Given the description of an element on the screen output the (x, y) to click on. 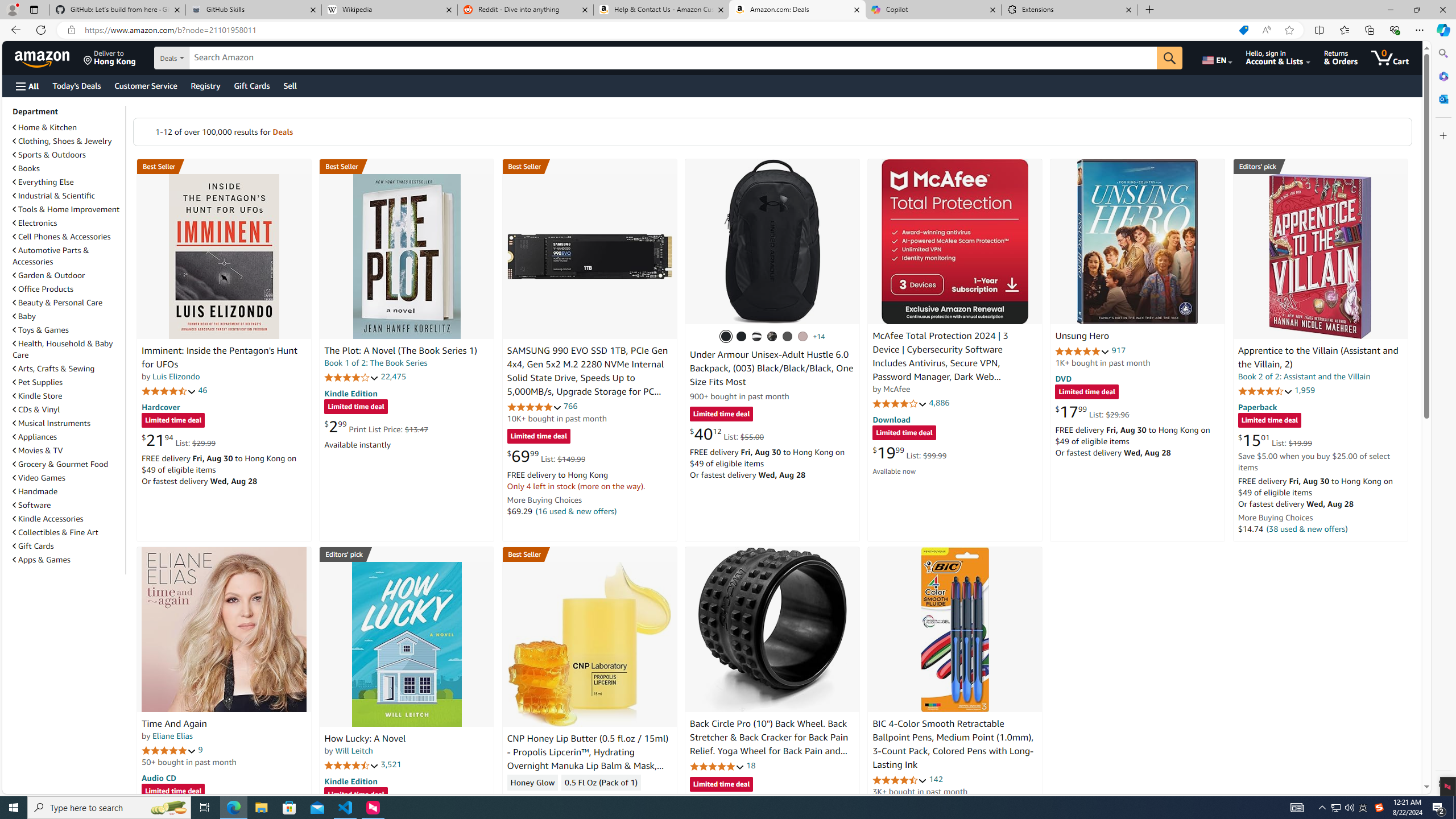
0 items in cart (1389, 57)
4.3 out of 5 stars (534, 799)
Today's Deals (76, 85)
18 (750, 764)
22,475 (393, 376)
Appliances (34, 436)
Sports & Outdoors (49, 154)
3,521 (390, 764)
How Lucky: A Novel (365, 738)
